Given the description of an element on the screen output the (x, y) to click on. 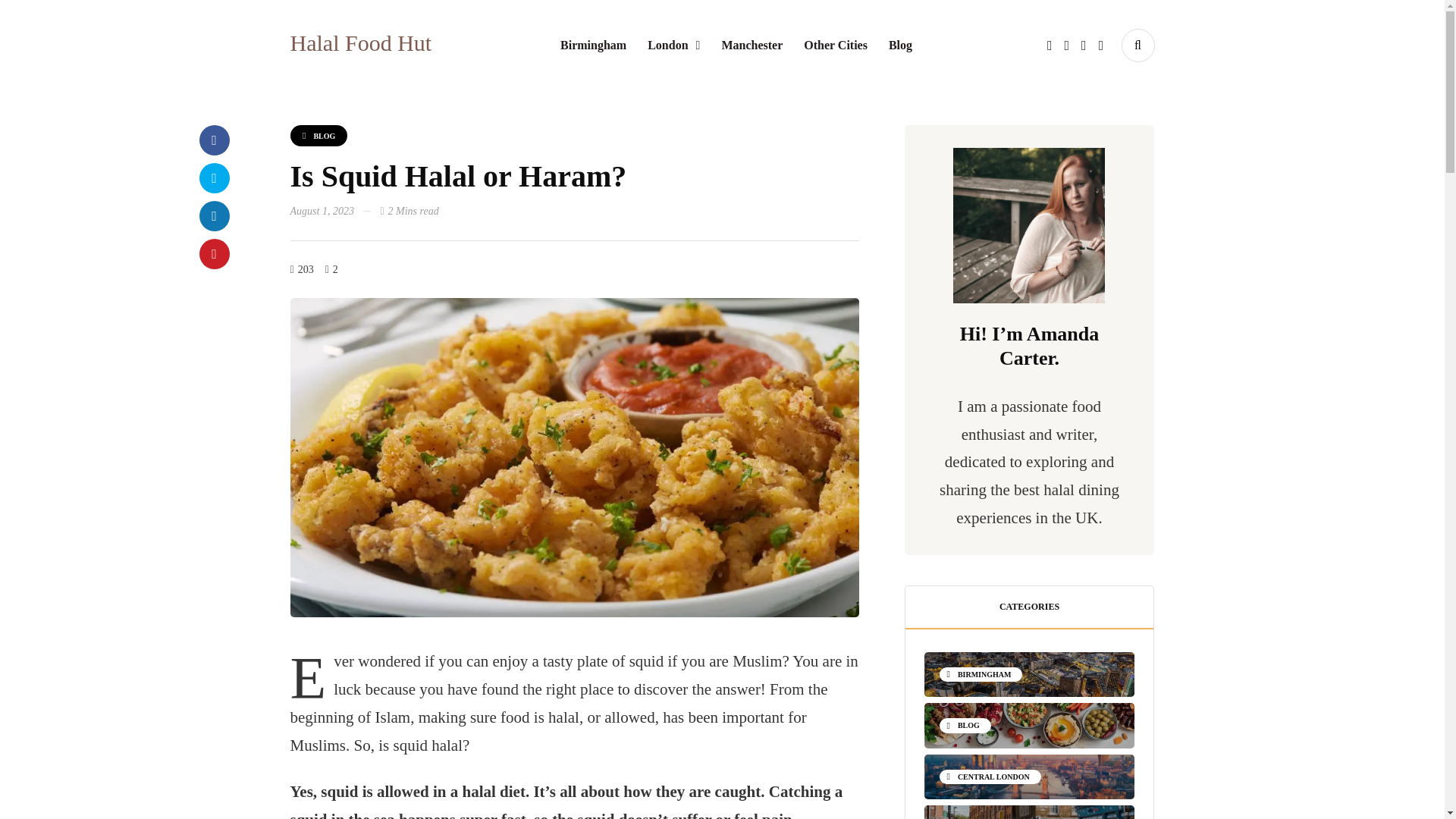
Birmingham (593, 45)
Manchester (751, 45)
Share with Facebook (213, 140)
Pin this (213, 254)
Blog (900, 45)
Tweet this (213, 177)
London (673, 45)
Other Cities (835, 45)
BLOG (317, 135)
Share with LinkedIn (213, 215)
